Given the description of an element on the screen output the (x, y) to click on. 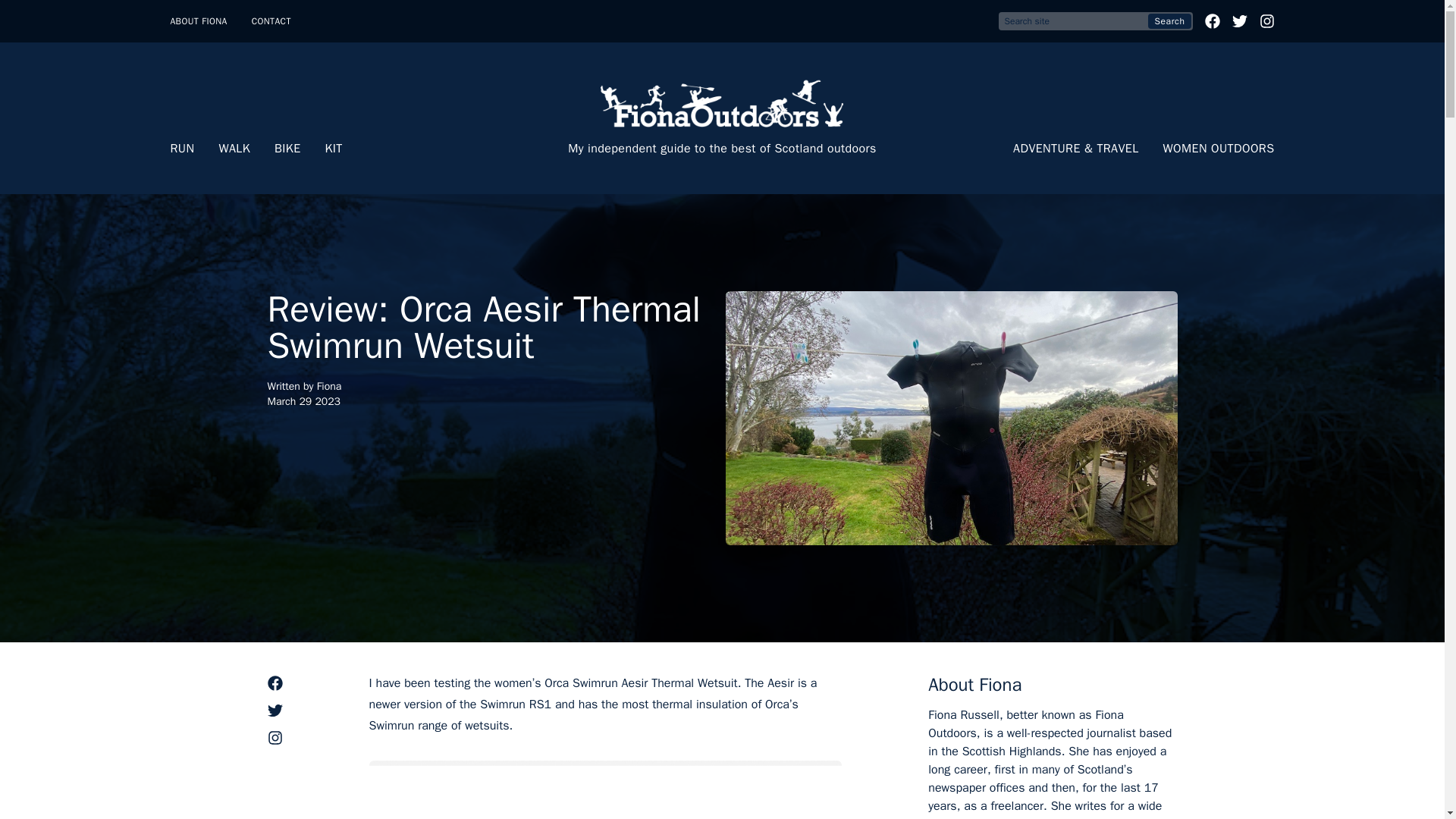
CONTACT (271, 21)
KIT (333, 148)
Search (1169, 20)
WALK (234, 148)
WOMEN OUTDOORS (1219, 148)
RUN (181, 148)
ABOUT FIONA (198, 21)
My independent guide to the best of Scotland outdoors (721, 118)
BIKE (288, 148)
